Given the description of an element on the screen output the (x, y) to click on. 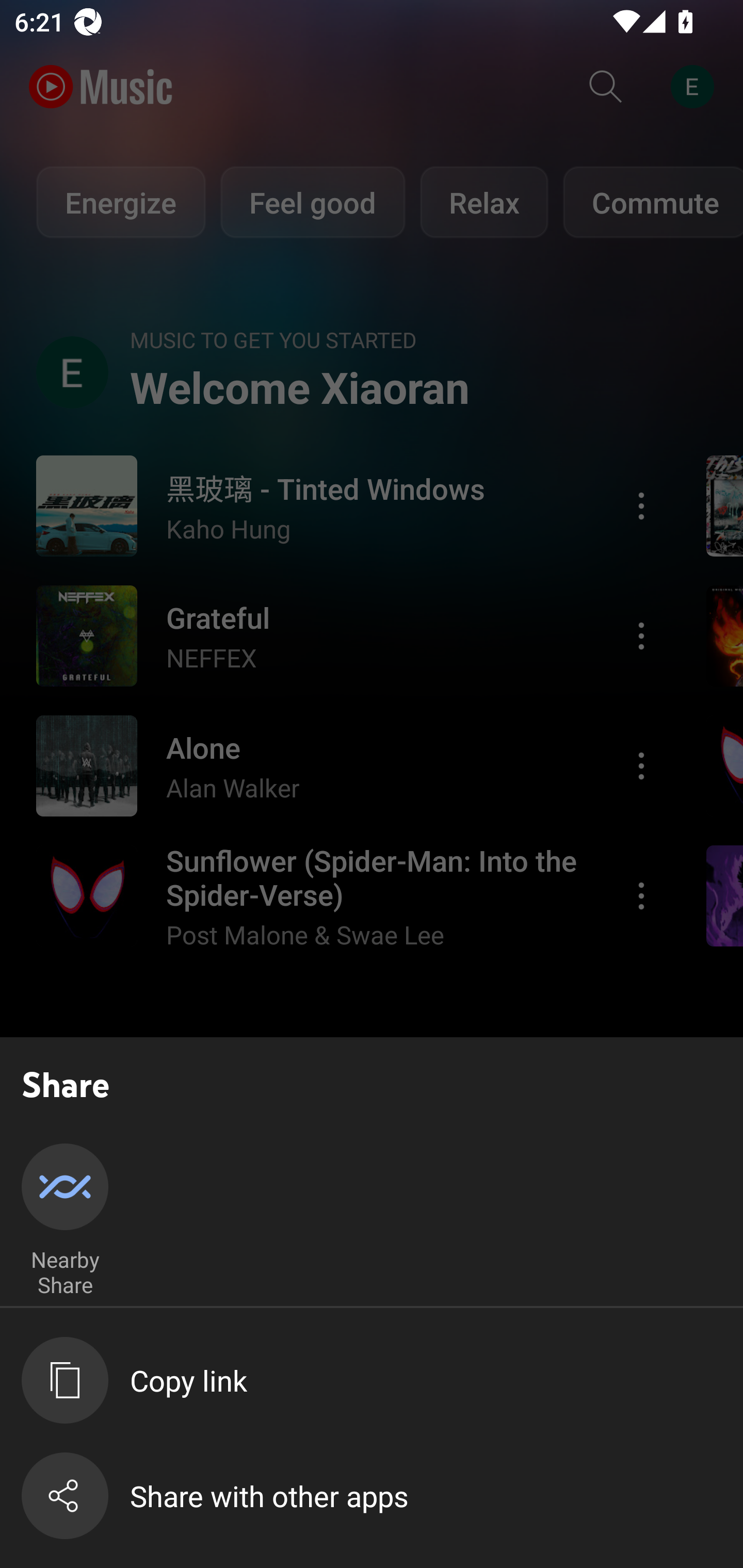
Nearby Share (64, 1221)
Copy link (382, 1380)
Share with other apps (382, 1495)
